Given the description of an element on the screen output the (x, y) to click on. 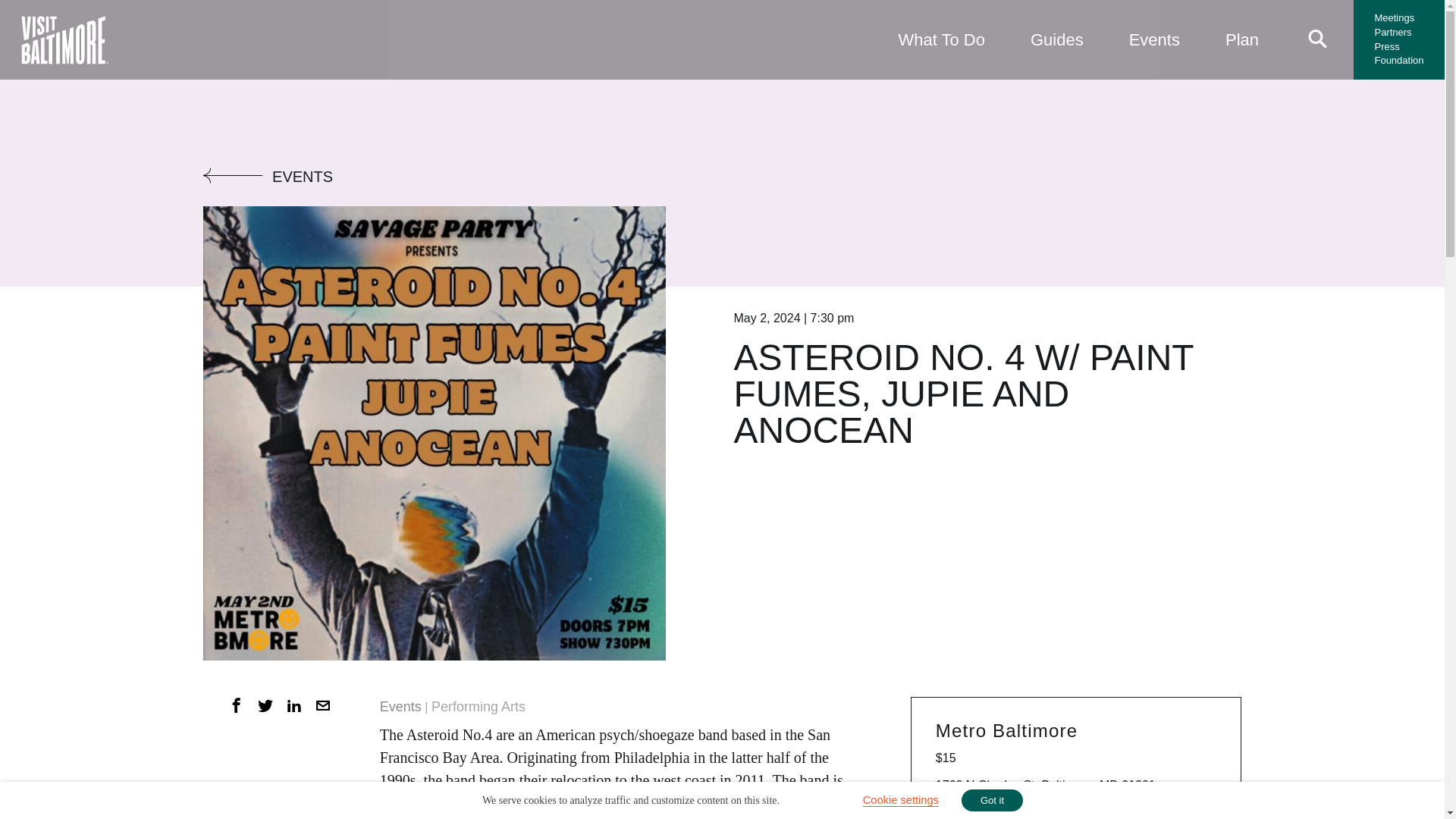
What To Do (941, 39)
Primary Logo (64, 39)
Guides (1056, 39)
